Given the description of an element on the screen output the (x, y) to click on. 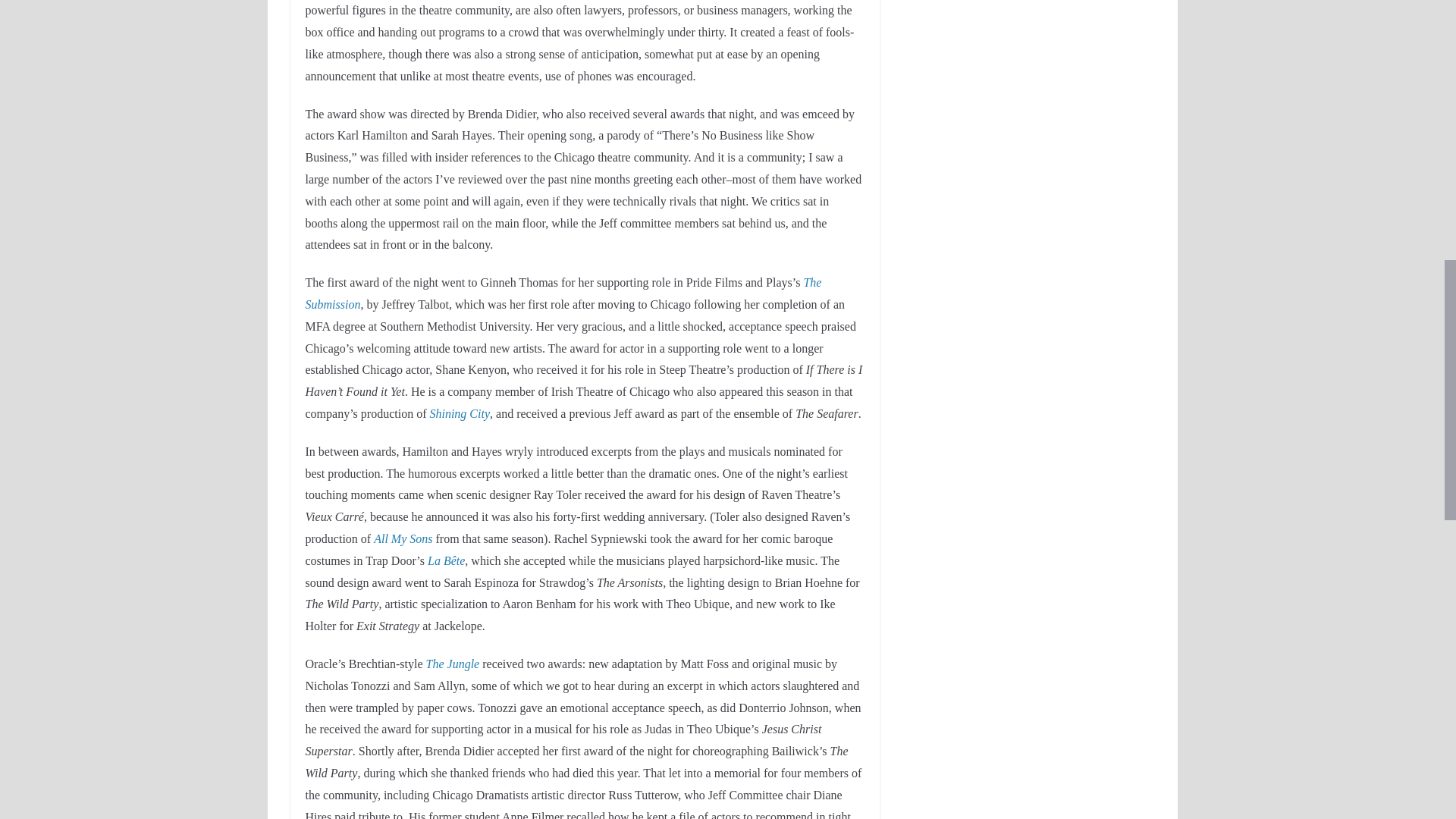
Shining City (459, 413)
The Jungle (453, 663)
All My Sons (403, 538)
The Submission (562, 293)
